Given the description of an element on the screen output the (x, y) to click on. 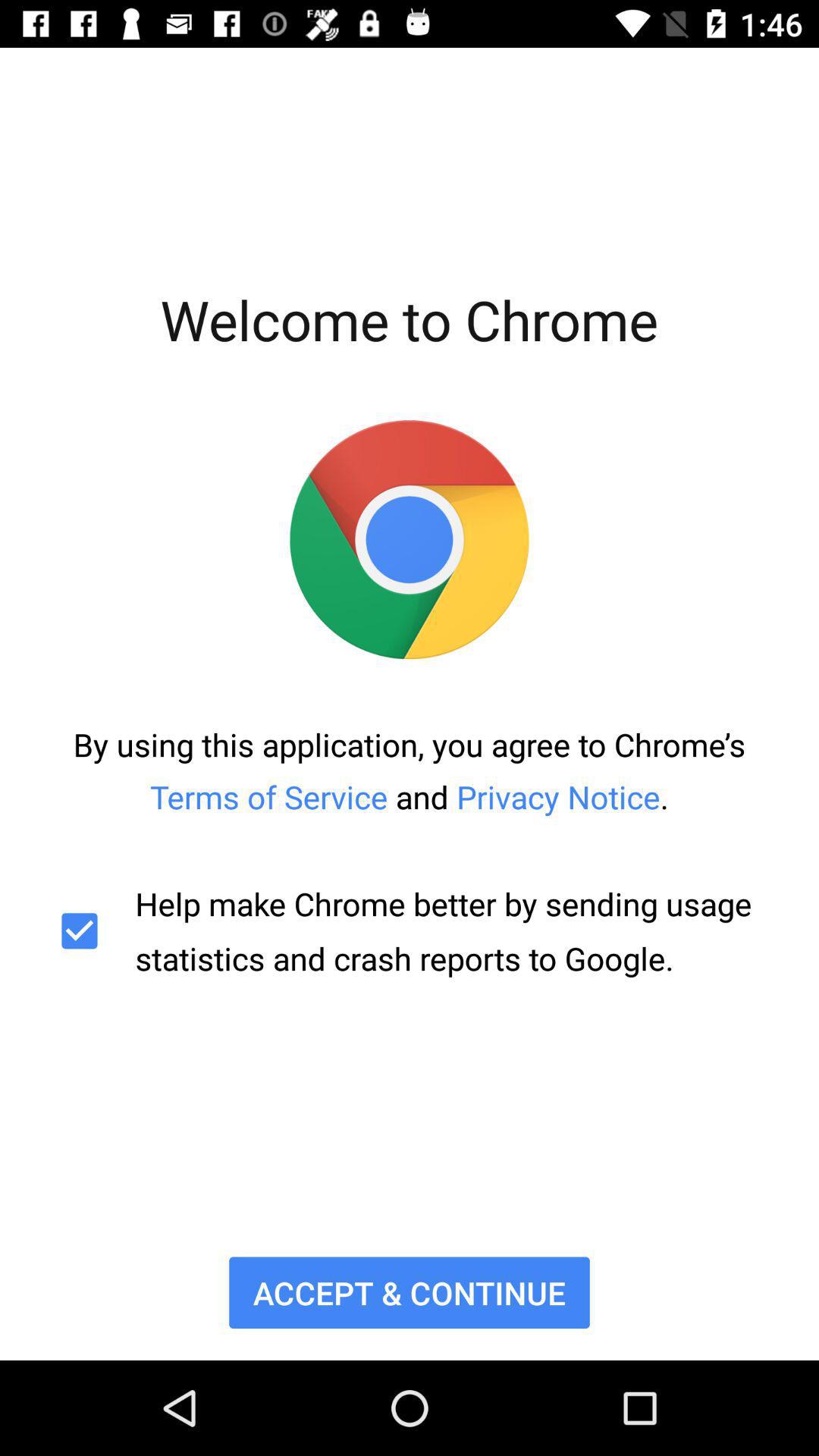
swipe to the accept & continue (409, 1292)
